Given the description of an element on the screen output the (x, y) to click on. 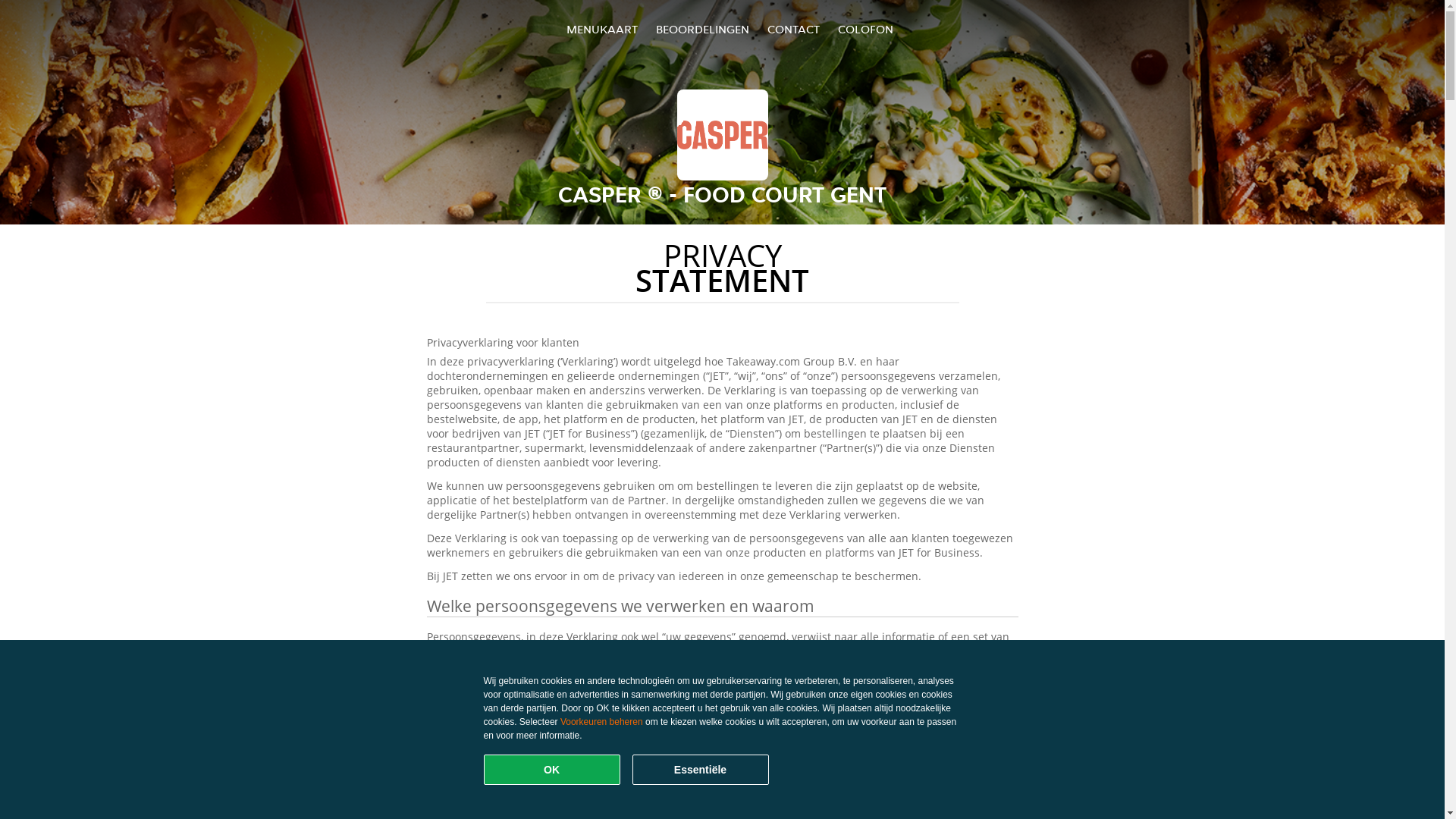
MENUKAART Element type: text (601, 29)
BEOORDELINGEN Element type: text (702, 29)
OK Element type: text (551, 769)
COLOFON Element type: text (865, 29)
Voorkeuren beheren Element type: text (601, 721)
CONTACT Element type: text (793, 29)
